Given the description of an element on the screen output the (x, y) to click on. 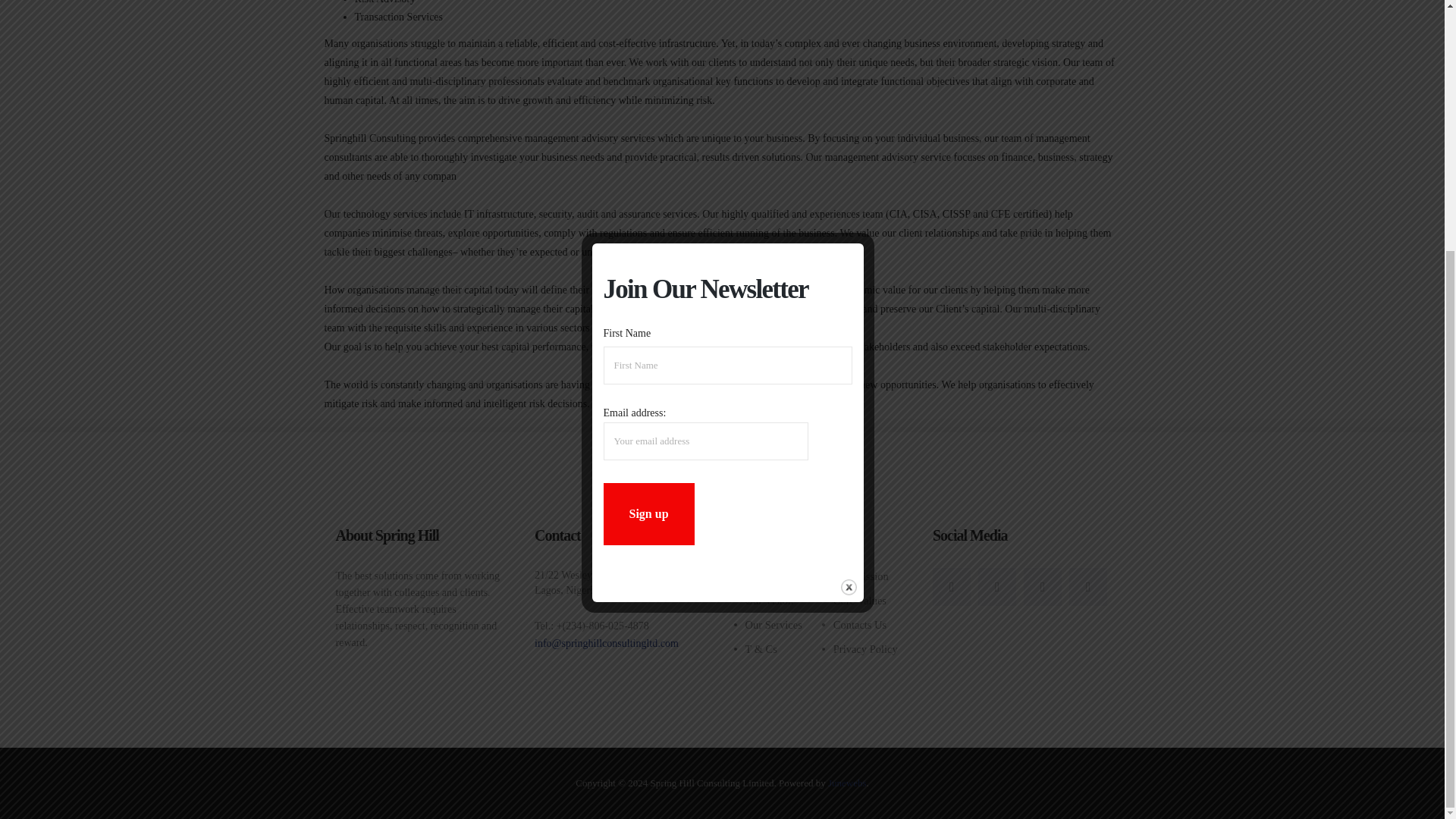
Junewebs (847, 782)
Sign up (649, 160)
Home (757, 576)
Sign up (649, 160)
Social item (997, 587)
Social item (1042, 587)
Our Mission (860, 576)
Social item (952, 587)
Our Services (773, 624)
Privacy Policy (865, 648)
